Given the description of an element on the screen output the (x, y) to click on. 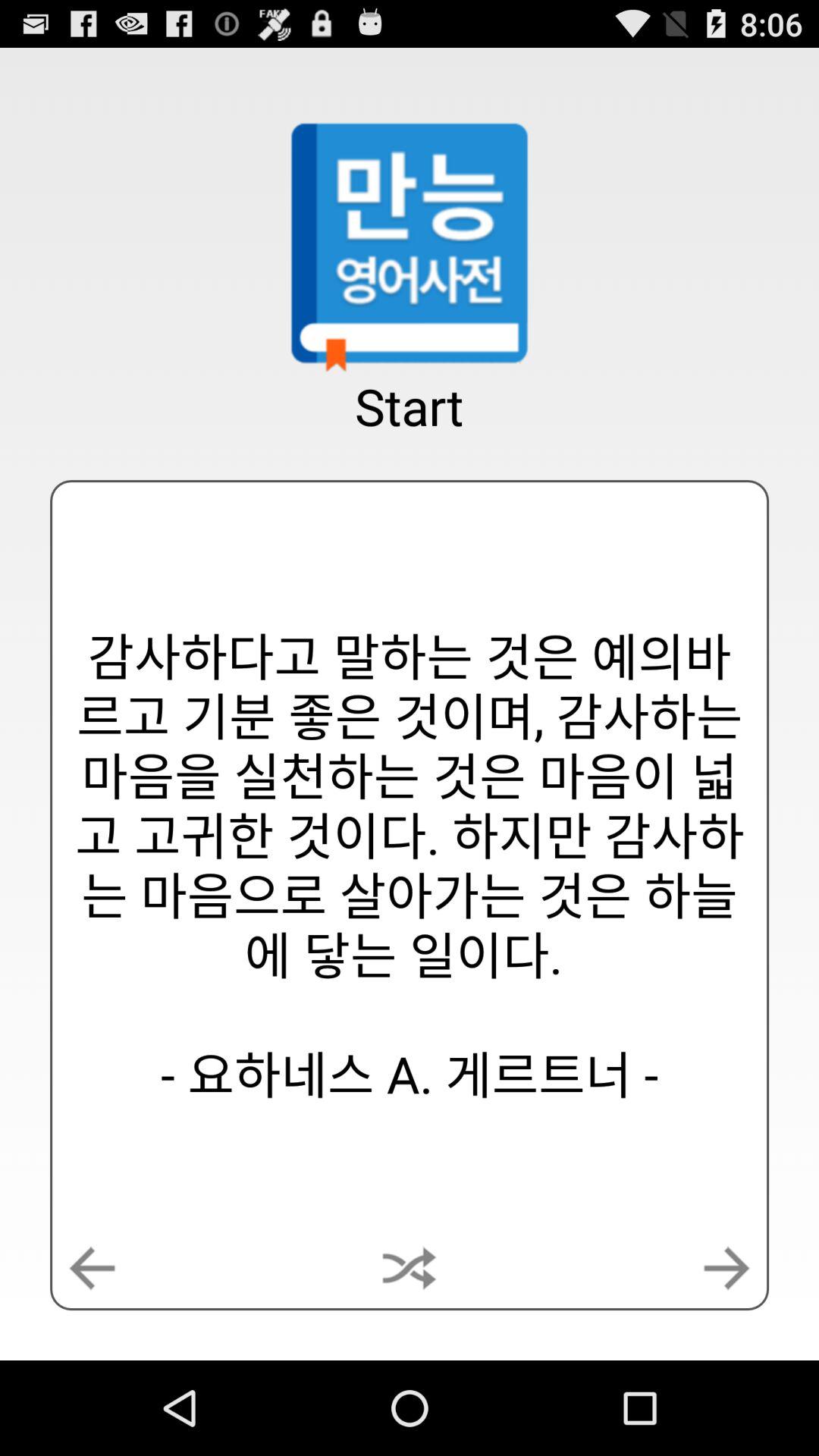
turn off the button at the bottom right corner (726, 1268)
